Given the description of an element on the screen output the (x, y) to click on. 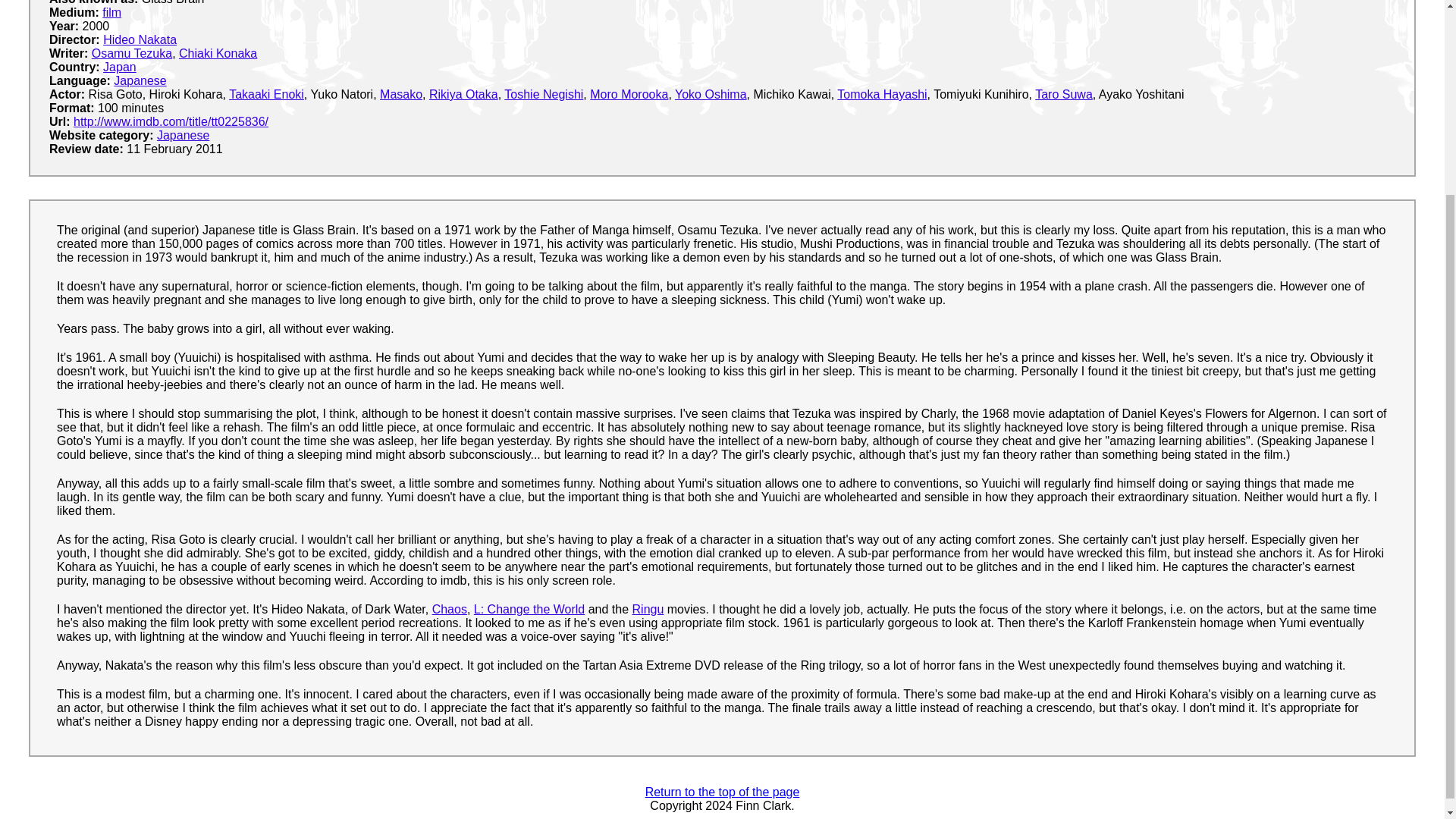
Yoko Oshima (710, 93)
film (110, 11)
L: Change the World (529, 608)
Rikiya Otaka (463, 93)
Japanese (183, 134)
Ringu (647, 608)
Japan (119, 66)
Tomoka Hayashi (881, 93)
Osamu Tezuka (131, 52)
Taro Suwa (1064, 93)
Hideo Nakata (139, 39)
Toshie Negishi (543, 93)
Masako (401, 93)
Chiaki Konaka (218, 52)
Moro Morooka (628, 93)
